Given the description of an element on the screen output the (x, y) to click on. 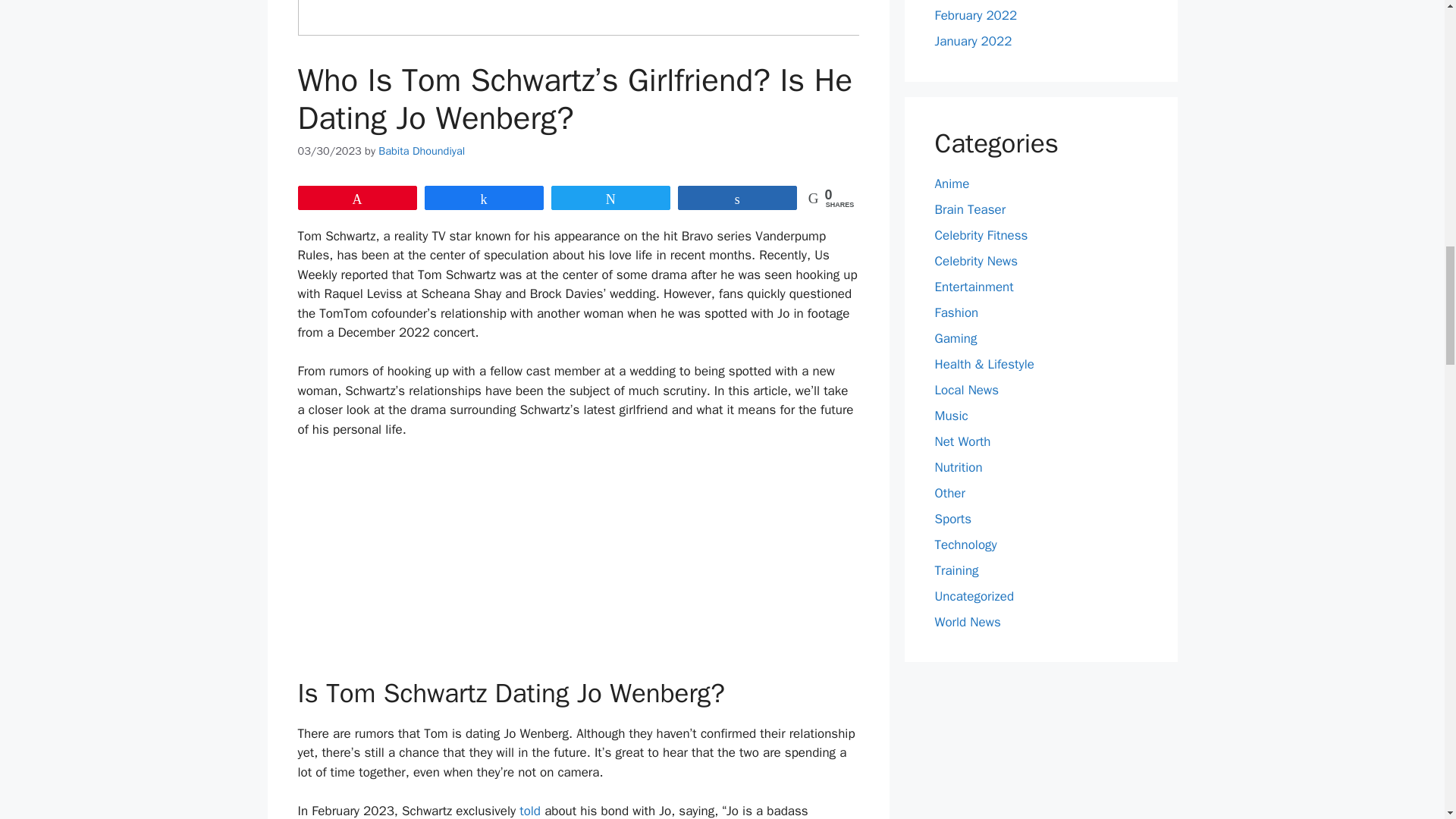
Babita Dhoundiyal (421, 151)
told (531, 811)
View all posts by Babita Dhoundiyal (421, 151)
